Given the description of an element on the screen output the (x, y) to click on. 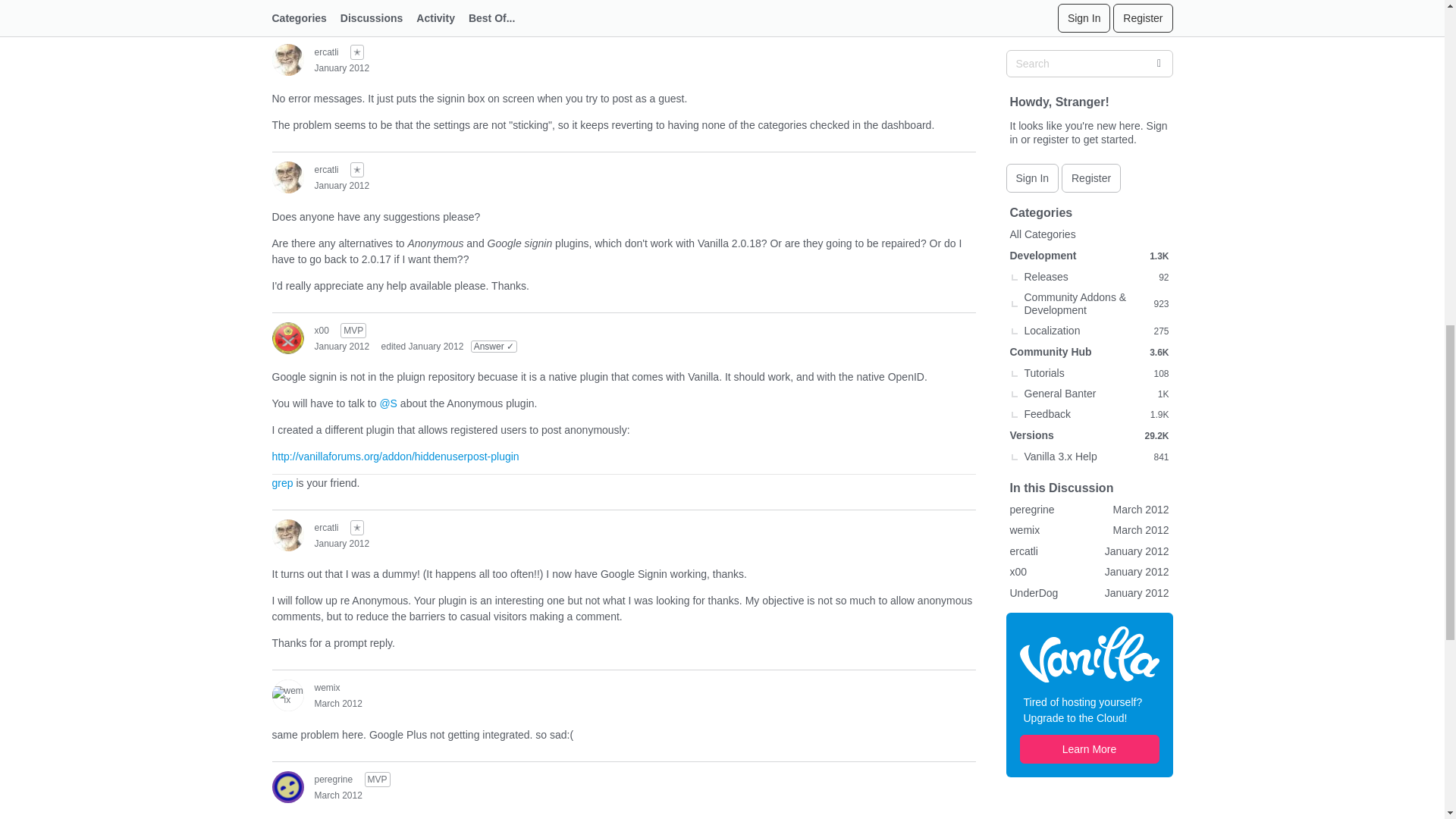
ercatli (286, 60)
Level 1 (357, 51)
Level 1 (357, 169)
ercatli (286, 177)
January 13, 2012 11:55AM (341, 67)
